Given the description of an element on the screen output the (x, y) to click on. 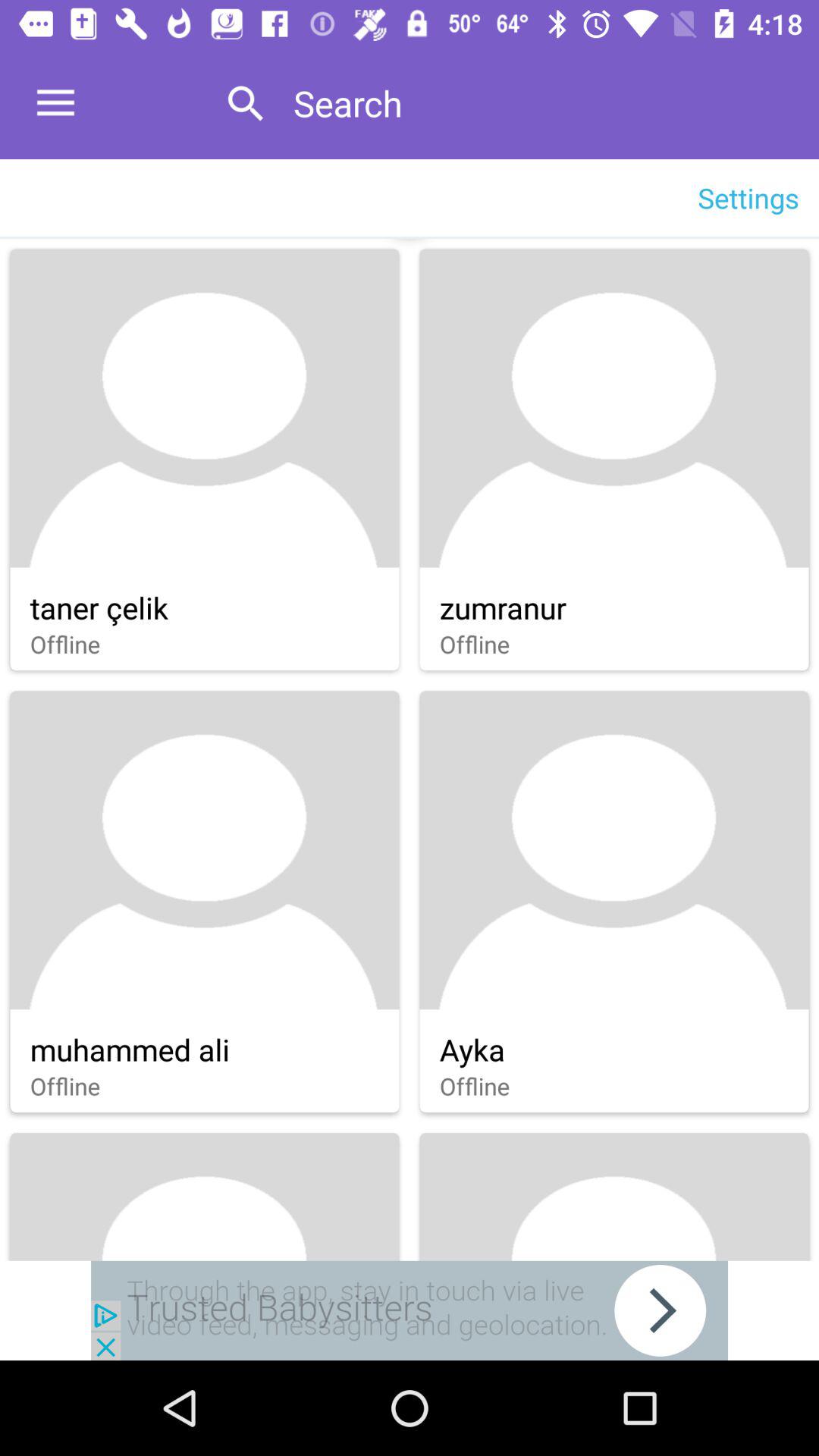
click to see babysitters (409, 1310)
